Given the description of an element on the screen output the (x, y) to click on. 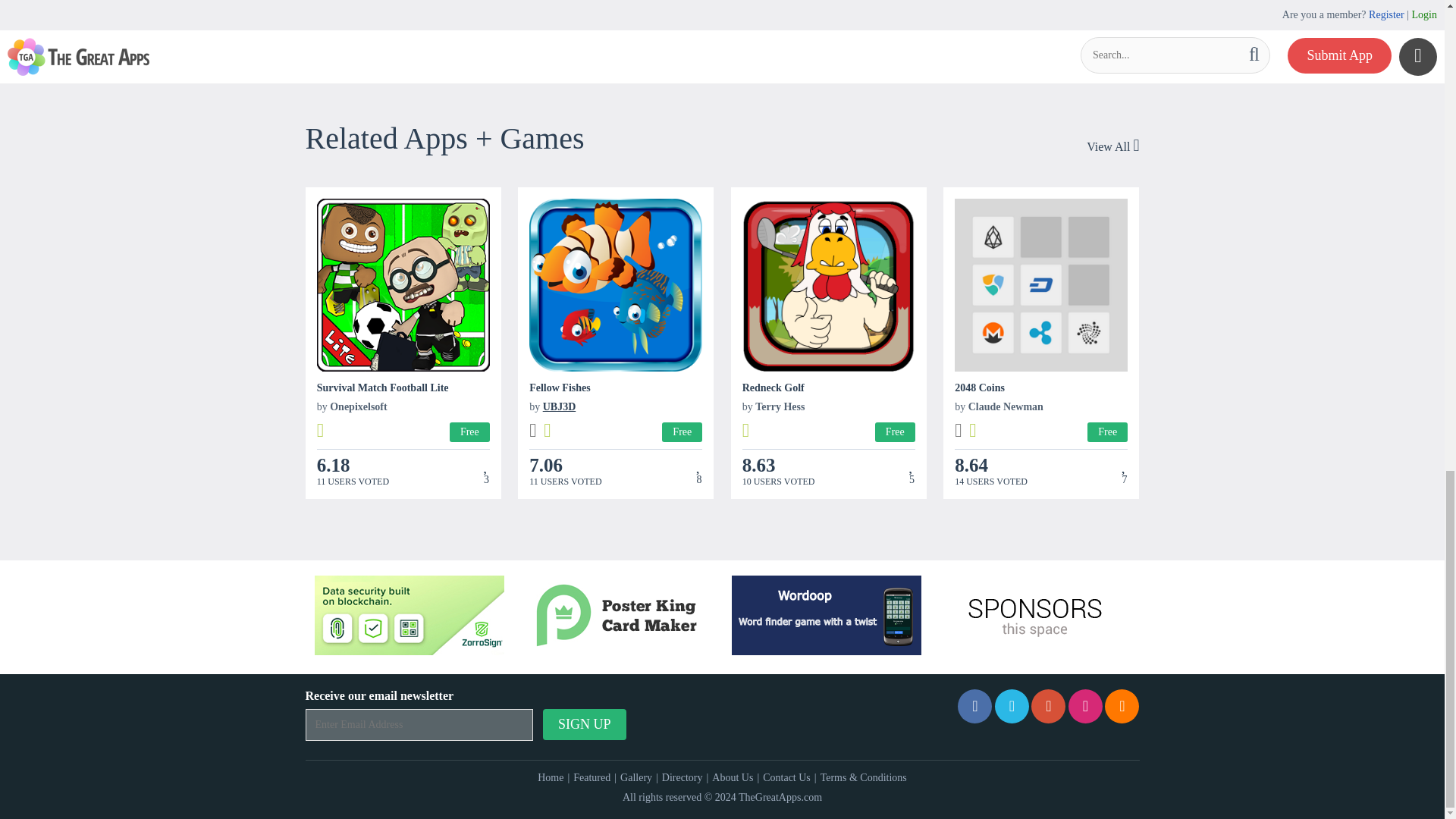
Twitter (1011, 706)
Pinterest (1047, 706)
Facebook (974, 706)
Sign up (584, 724)
Sponsors Advertise with us (1034, 615)
ZorroSign (408, 615)
Poster King - Card Maker (617, 615)
Wordoop Word Game (826, 615)
Instagram (1085, 706)
Rss (1121, 706)
